Given the description of an element on the screen output the (x, y) to click on. 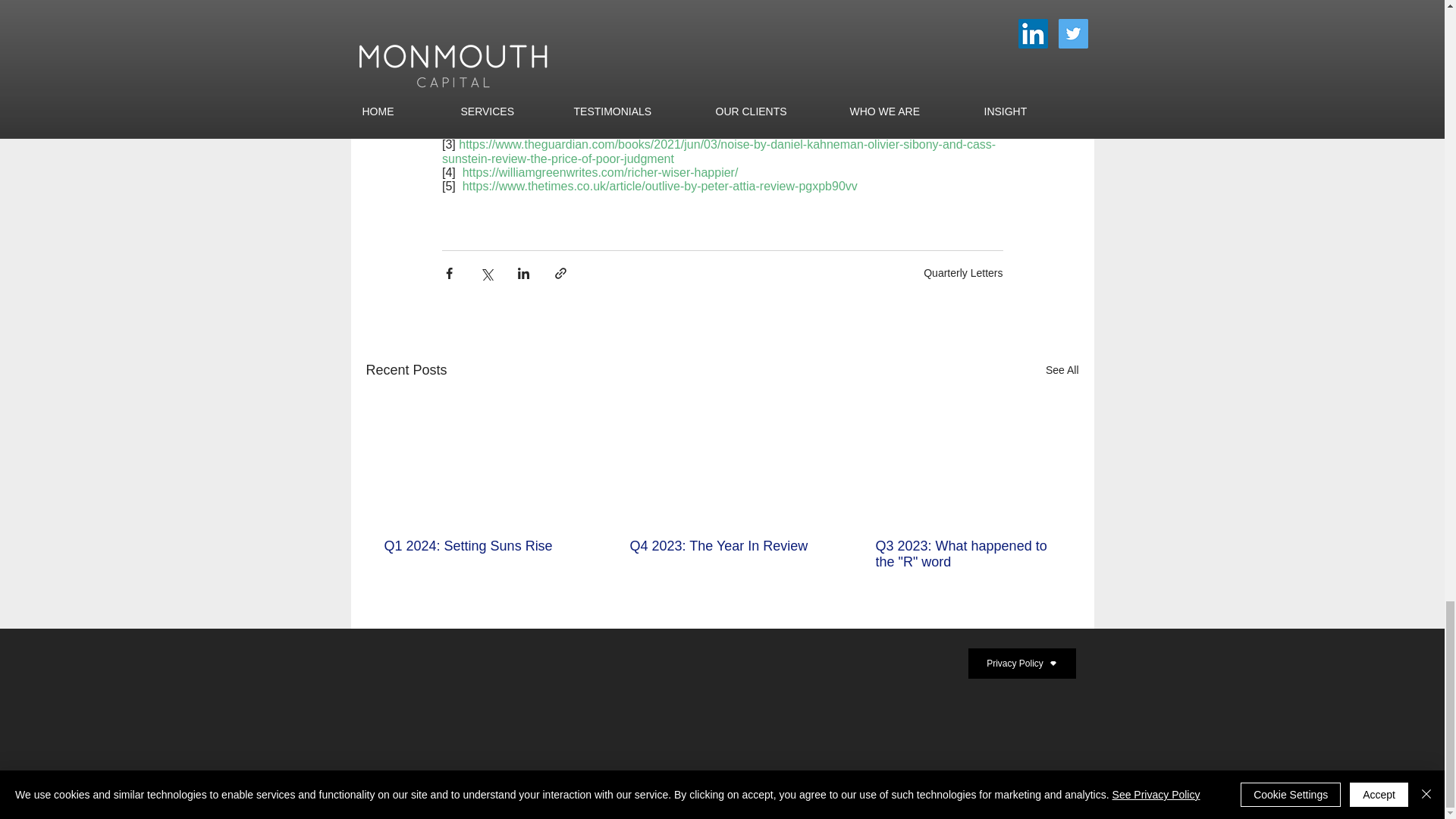
Privacy Policy (1021, 663)
Q1 2024: Setting Suns Rise (475, 546)
Q4 2023: The Year In Review (720, 546)
Q3 2023: What happened to the "R" word (966, 554)
See All (1061, 370)
Quarterly Letters (963, 272)
